Given the description of an element on the screen output the (x, y) to click on. 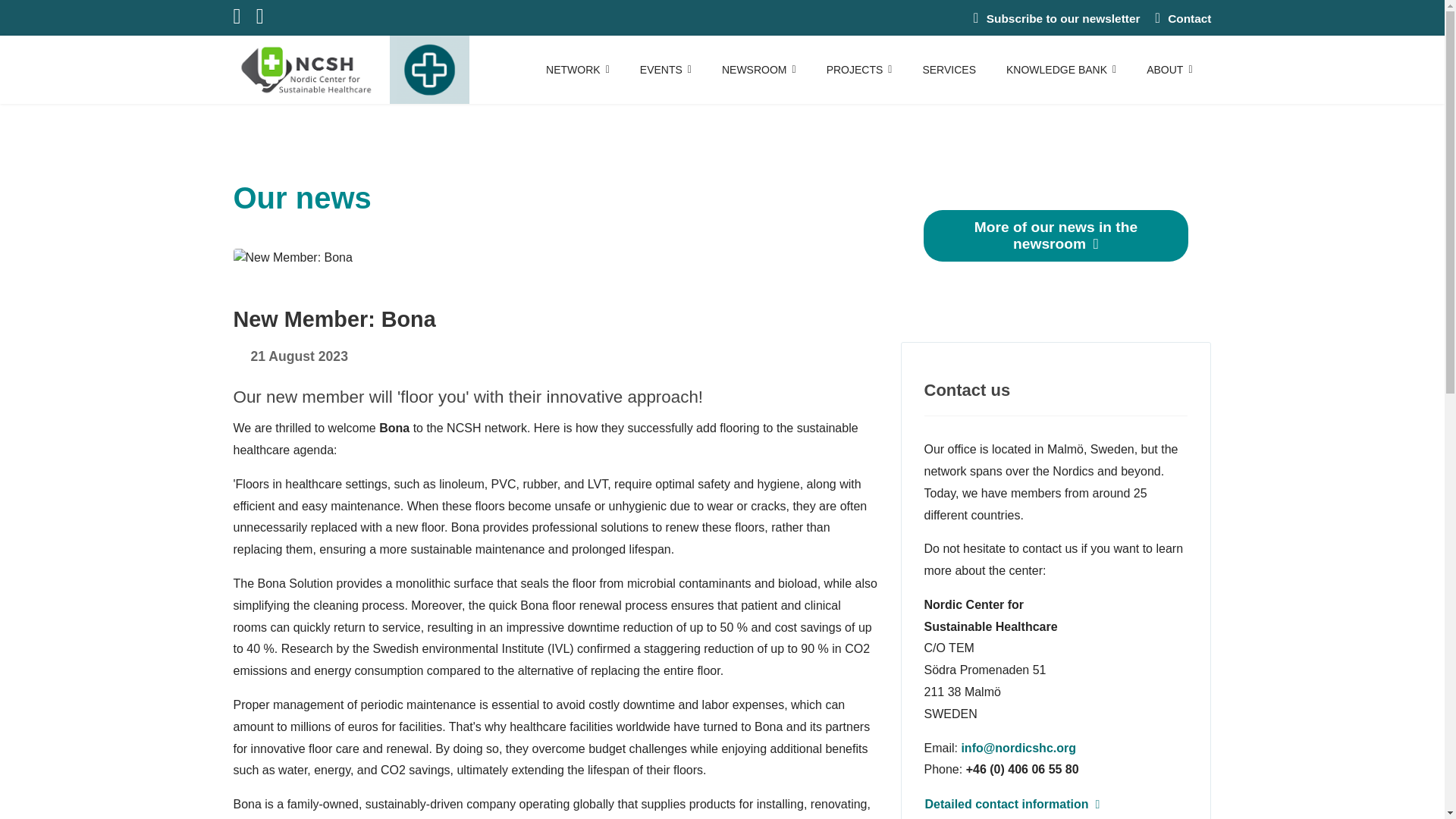
Subscribe to our newsletter (1063, 18)
Published: 21 August 2023 (289, 356)
More of our news in the newsroom (1056, 235)
Contact (1189, 18)
Detailed contact information (1011, 804)
SERVICES (949, 70)
Subscribe to our newsletter (1063, 18)
More of our news in the newsroom (1056, 235)
Detailed contact information (1011, 804)
Contact us (1017, 748)
Contact us (1189, 18)
